Given the description of an element on the screen output the (x, y) to click on. 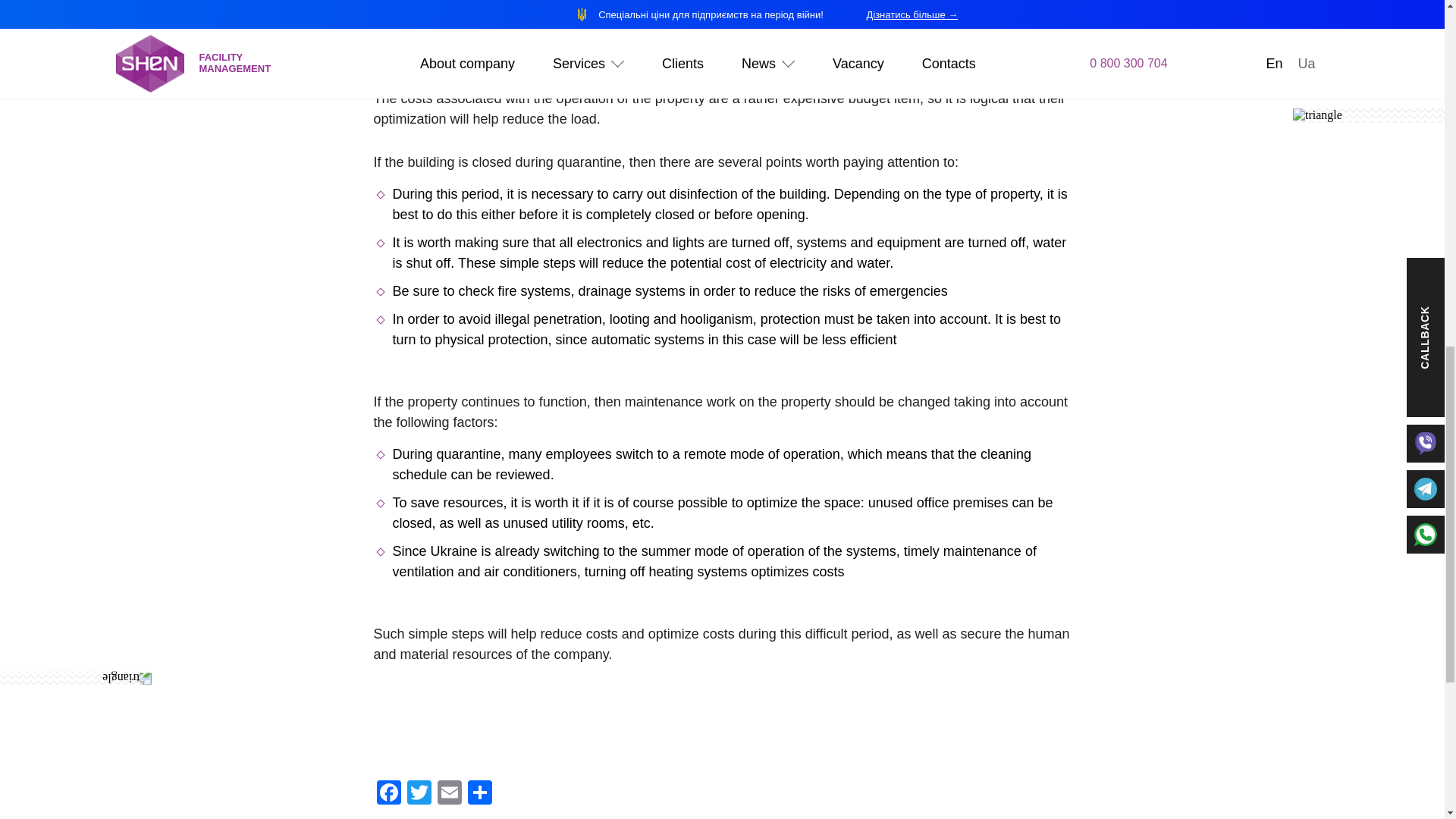
Facebook (387, 794)
Twitter (418, 794)
Twitter (418, 794)
Facebook (387, 794)
Email (448, 794)
Share (479, 794)
Email (448, 794)
Optimization of facility budget. How to plan works correctly (721, 25)
